Given the description of an element on the screen output the (x, y) to click on. 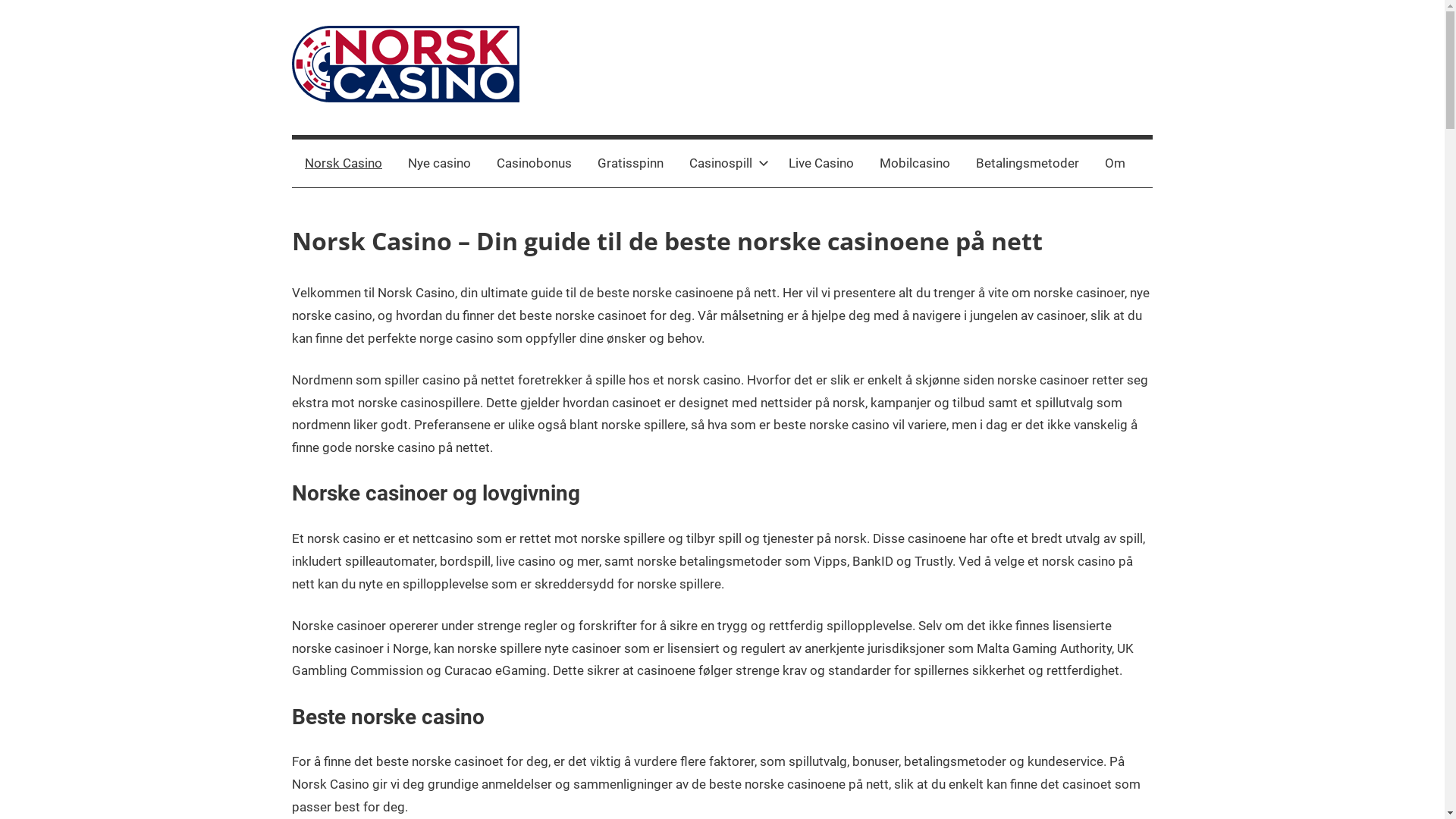
Om Element type: text (1115, 163)
Mobilcasino Element type: text (914, 163)
Betalingsmetoder Element type: text (1027, 163)
Casinobonus Element type: text (533, 163)
Casinospill Element type: text (725, 163)
Nye casino Element type: text (439, 163)
Norsk Casino Element type: text (343, 163)
Gratisspinn Element type: text (630, 163)
Norsk casino Element type: text (340, 151)
Live Casino Element type: text (820, 163)
